Given the description of an element on the screen output the (x, y) to click on. 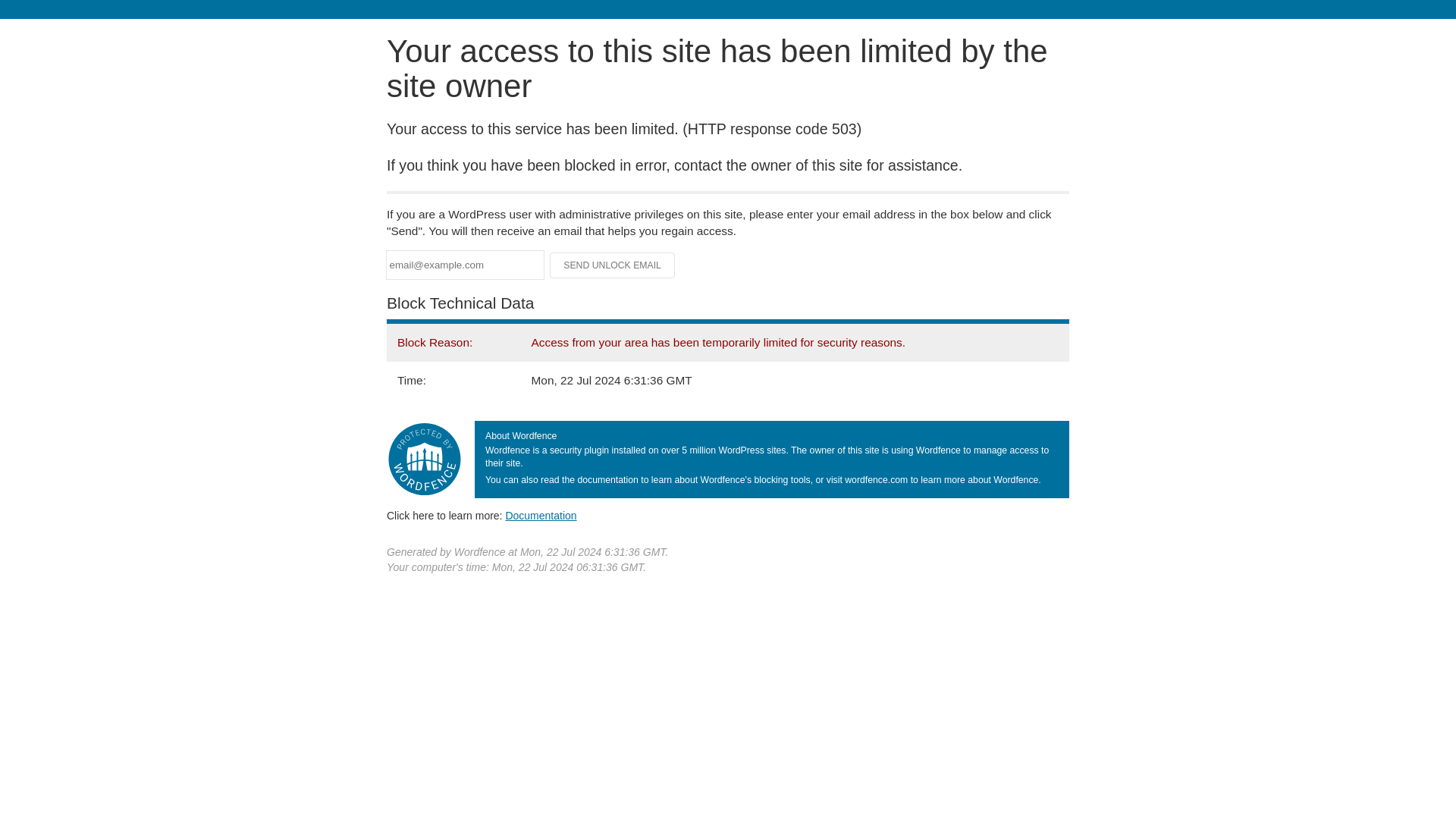
Send Unlock Email (612, 265)
Documentation (540, 515)
Send Unlock Email (612, 265)
